Given the description of an element on the screen output the (x, y) to click on. 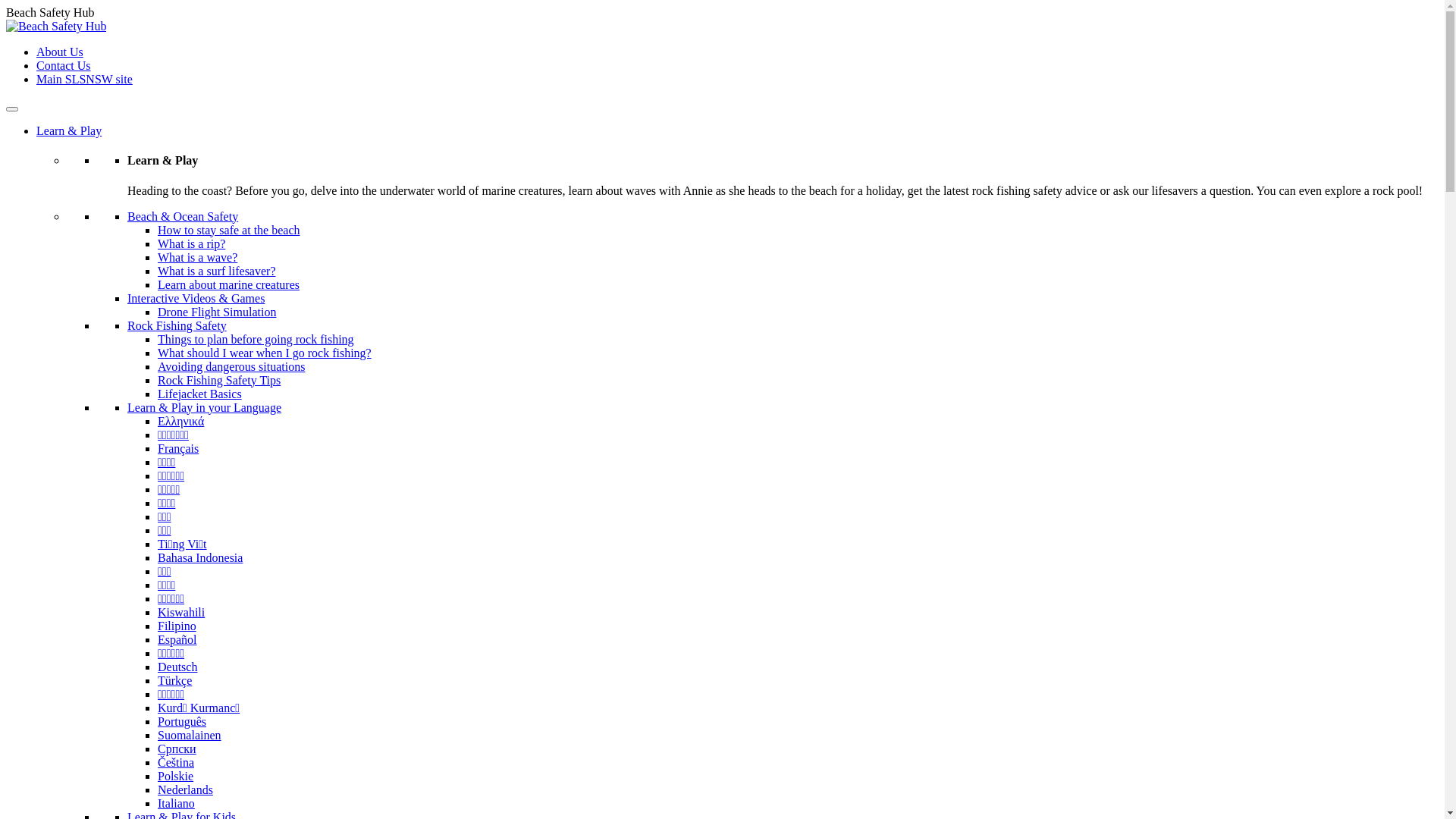
Learn & Play Element type: text (68, 130)
What is a surf lifesaver? Element type: text (216, 270)
Suomalainen Element type: text (189, 734)
How to stay safe at the beach Element type: text (228, 229)
Rock Fishing Safety Tips Element type: text (218, 379)
Deutsch Element type: text (177, 666)
Drone Flight Simulation Element type: text (216, 311)
Main SLSNSW site Element type: text (84, 78)
Bahasa Indonesia Element type: text (199, 557)
Beach & Ocean Safety Element type: text (182, 216)
Things to plan before going rock fishing Element type: text (255, 338)
Learn & Play in your Language Element type: text (204, 407)
What is a wave? Element type: text (197, 257)
What is a rip? Element type: text (191, 243)
About Us Element type: text (59, 51)
Kiswahili Element type: text (180, 611)
Lifejacket Basics Element type: text (199, 393)
Rock Fishing Safety Element type: text (176, 325)
Polskie Element type: text (175, 775)
Filipino Element type: text (176, 625)
Contact Us Element type: text (63, 65)
Interactive Videos & Games Element type: text (195, 297)
Nederlands Element type: text (185, 789)
What should I wear when I go rock fishing? Element type: text (264, 352)
Learn about marine creatures Element type: text (228, 284)
Avoiding dangerous situations Element type: text (230, 366)
Italiano Element type: text (175, 803)
